Given the description of an element on the screen output the (x, y) to click on. 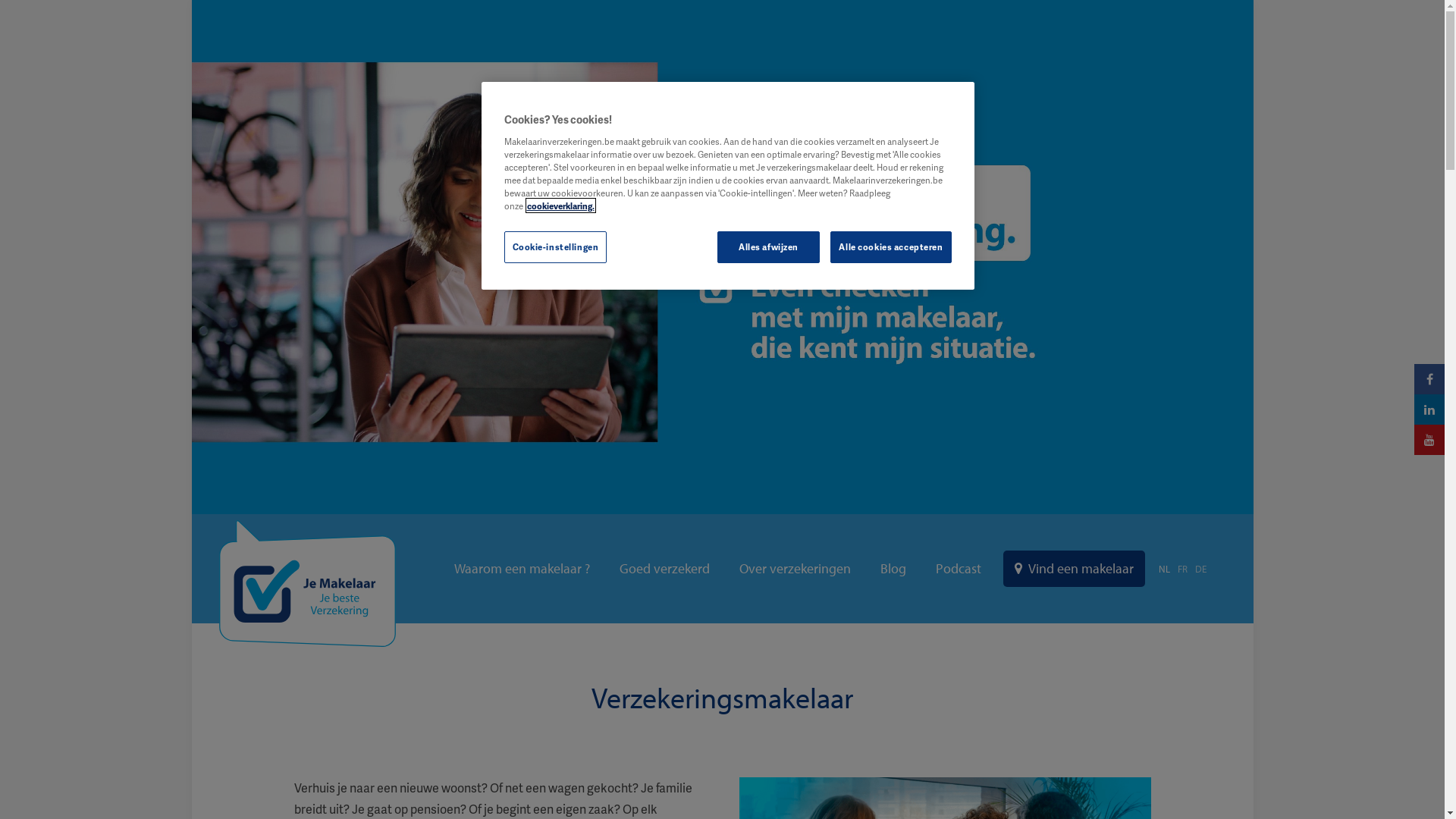
Podcast Element type: text (958, 568)
FR Element type: text (1181, 568)
NL Element type: text (1164, 568)
cookieverklaring. Element type: text (559, 205)
Alle cookies accepteren Element type: text (890, 247)
DE Element type: text (1200, 568)
Alles afwijzen Element type: text (768, 247)
Waarom een makelaar ? Element type: text (520, 568)
Goed verzekerd Element type: text (663, 568)
Vind een makelaar Element type: text (1073, 568)
Blog Element type: text (892, 568)
Over verzekeringen Element type: text (794, 568)
Cookie-instellingen Element type: text (554, 247)
